Given the description of an element on the screen output the (x, y) to click on. 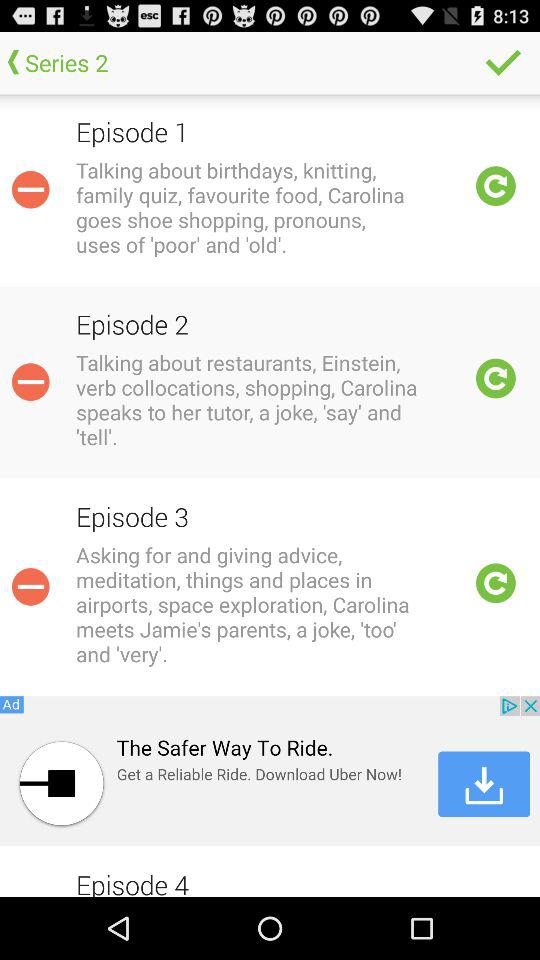
go to adsense (270, 771)
